Given the description of an element on the screen output the (x, y) to click on. 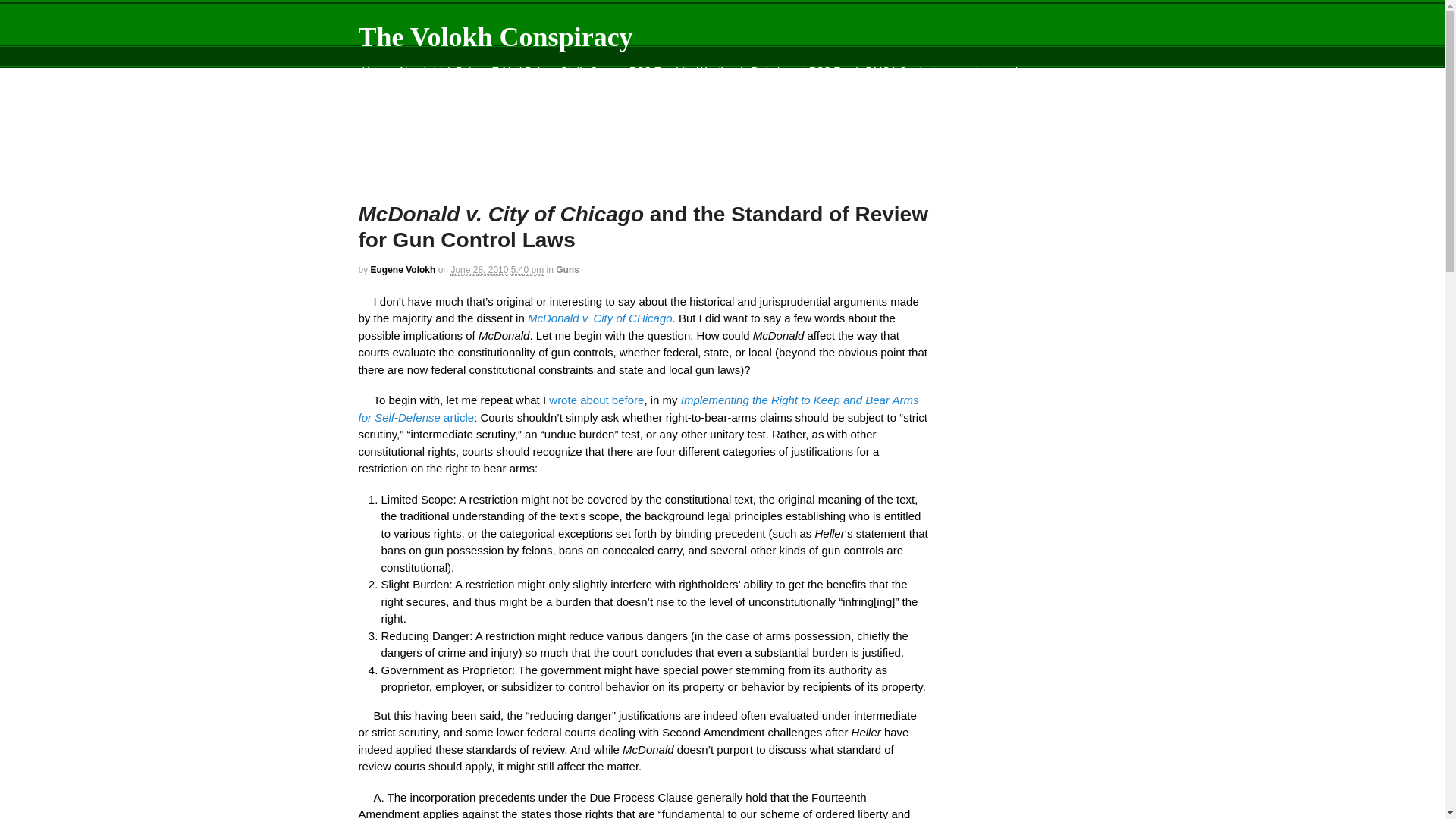
Stuff (571, 70)
2010-06-28T17:40:36-0400 (527, 270)
Eugene Volokh (403, 269)
Home (375, 70)
The Volokh Conspiracy (494, 37)
Move to Reason site (577, 89)
Guns (567, 269)
McDonald v. City of CHicago (599, 318)
2010-06-28T17:40:36-0400 (478, 270)
Posts by Eugene Volokh (403, 269)
Link Policy (458, 70)
DMCA Contact (900, 70)
Date-based RSS Feed (804, 70)
E-Mail Policy (521, 70)
